Given the description of an element on the screen output the (x, y) to click on. 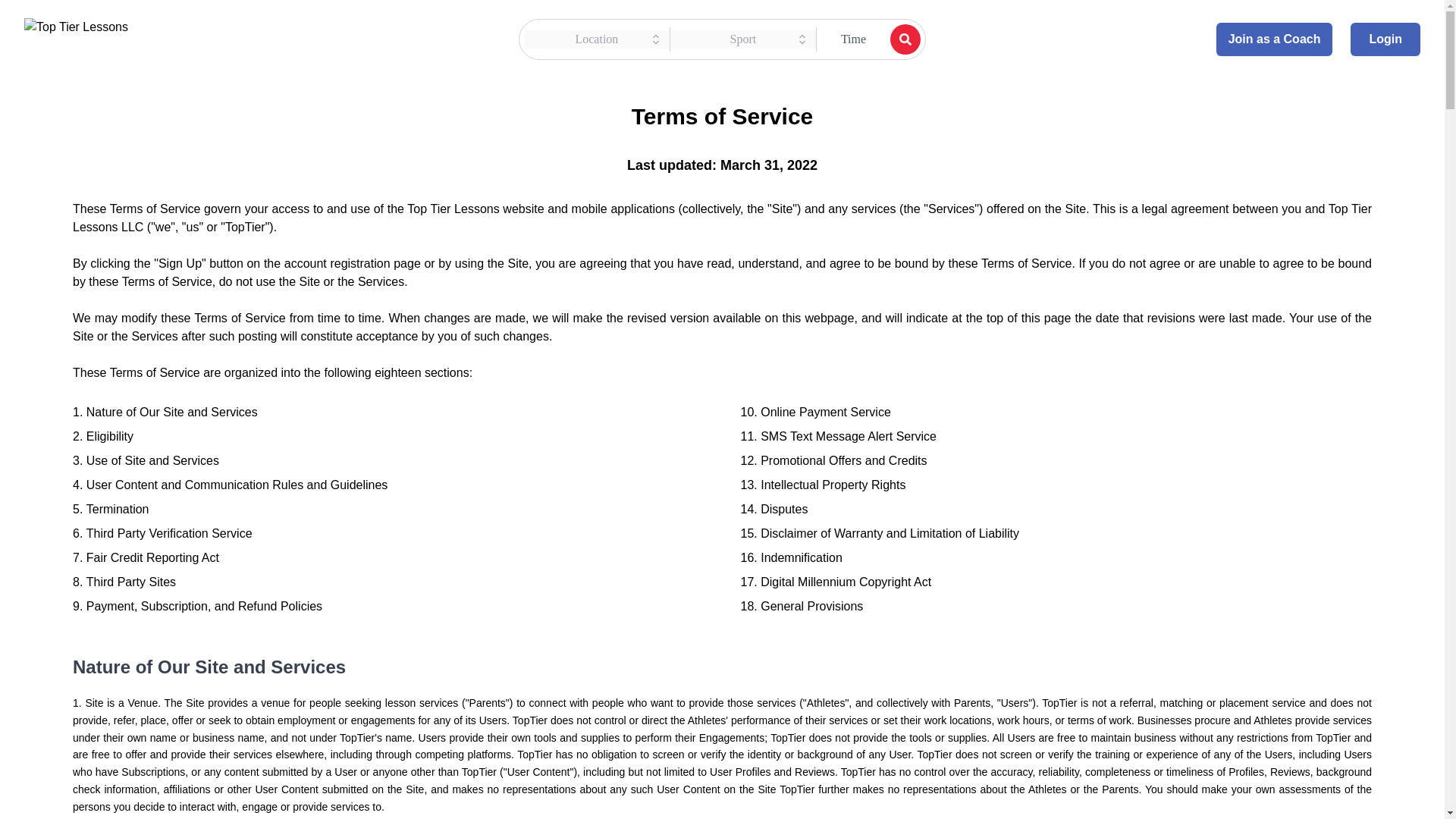
User Content and Communication Rules and Guidelines (236, 484)
Digital Millennium Copyright Act (845, 581)
Fair Credit Reporting Act (152, 557)
Nature of Our Site and Services (171, 411)
Join as a Coach (1274, 39)
Online Payment Service (825, 411)
Third Party Verification Service (168, 533)
Payment, Subscription, and Refund Policies (203, 605)
Promotional Offers and Credits (843, 460)
General Provisions (811, 605)
